Given the description of an element on the screen output the (x, y) to click on. 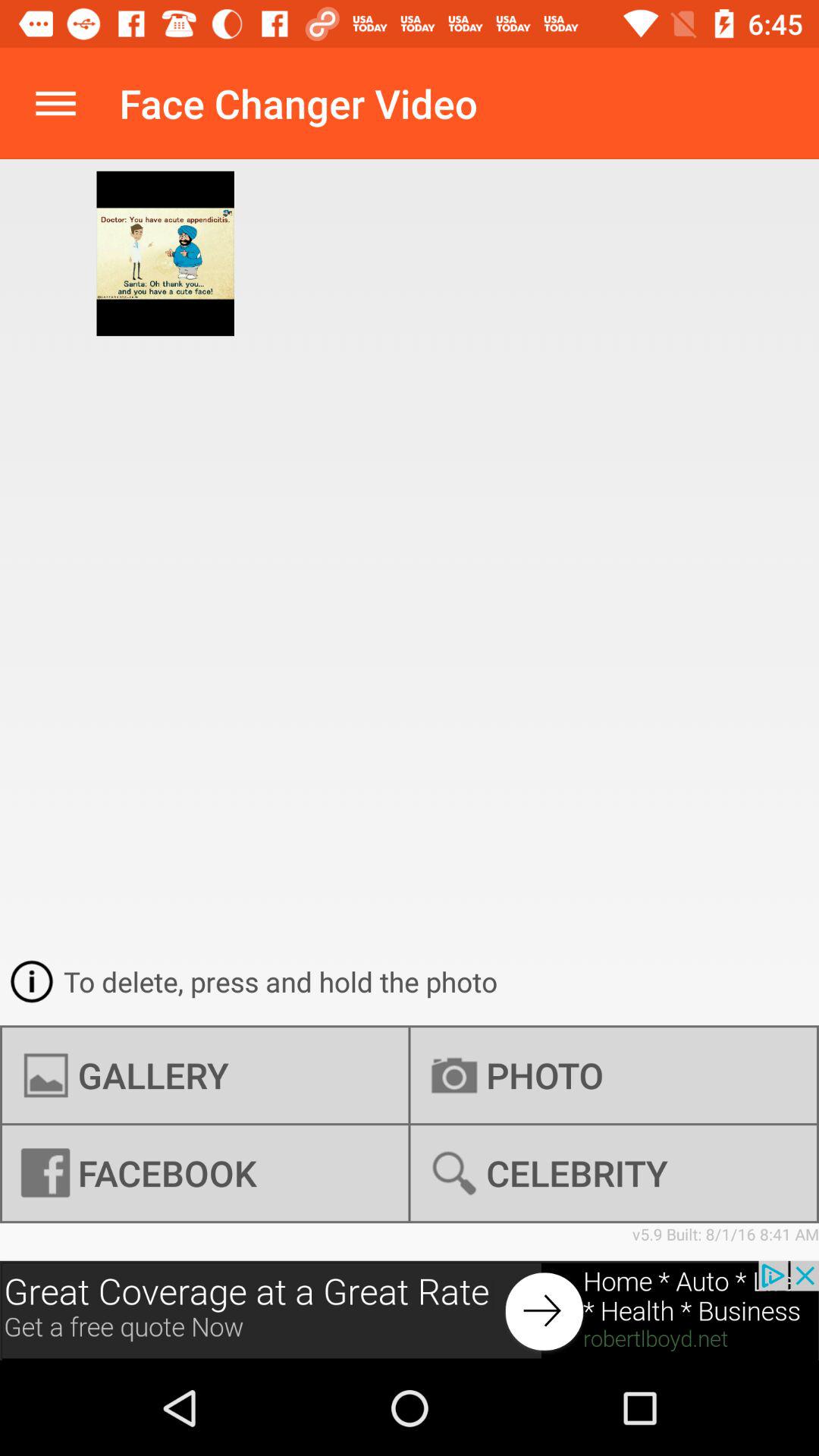
turn on icon next to the face changer video app (55, 103)
